Given the description of an element on the screen output the (x, y) to click on. 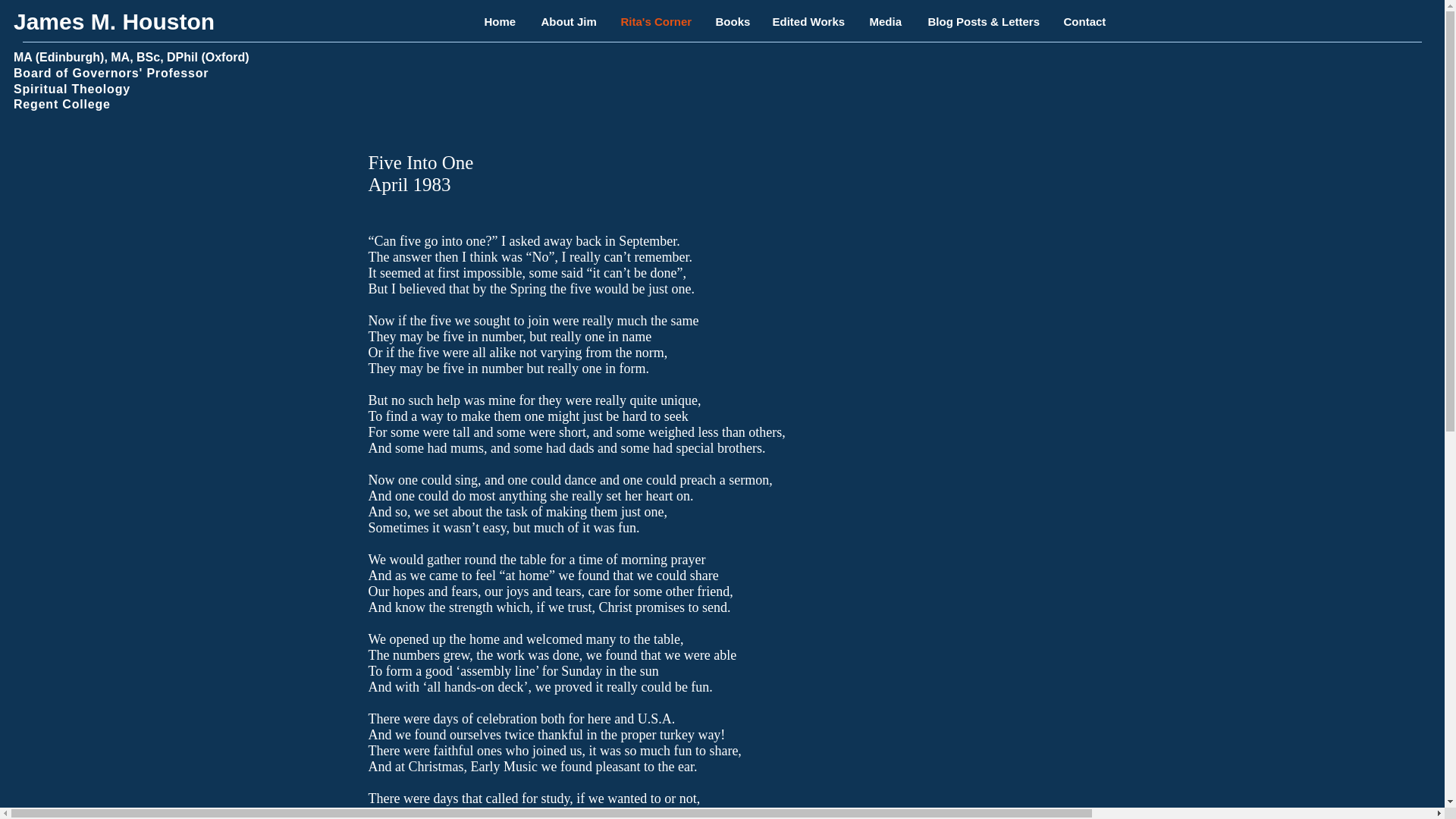
Regent College (61, 103)
James M. Houston  (117, 21)
Spiritual Theology (72, 88)
Board of Governors' Professor (110, 72)
